Given the description of an element on the screen output the (x, y) to click on. 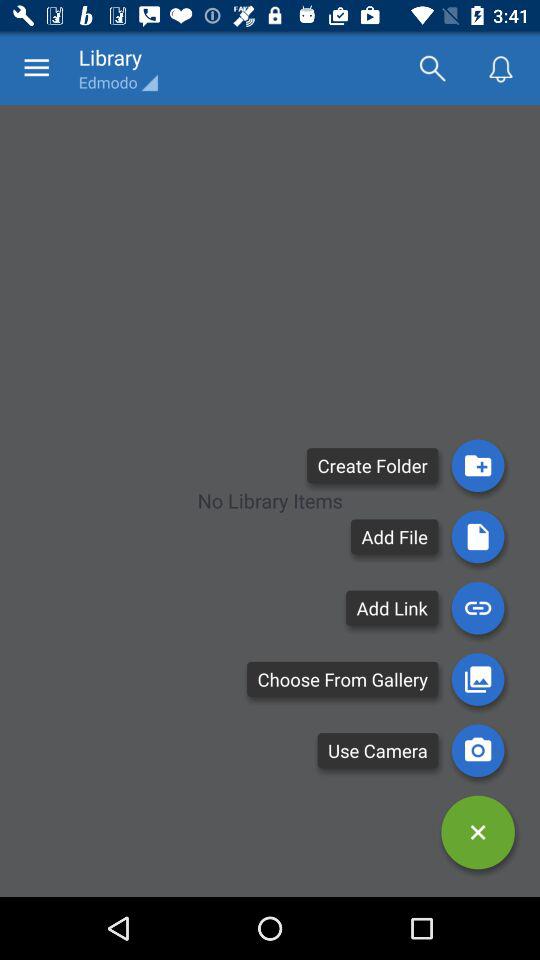
add file (478, 536)
